Given the description of an element on the screen output the (x, y) to click on. 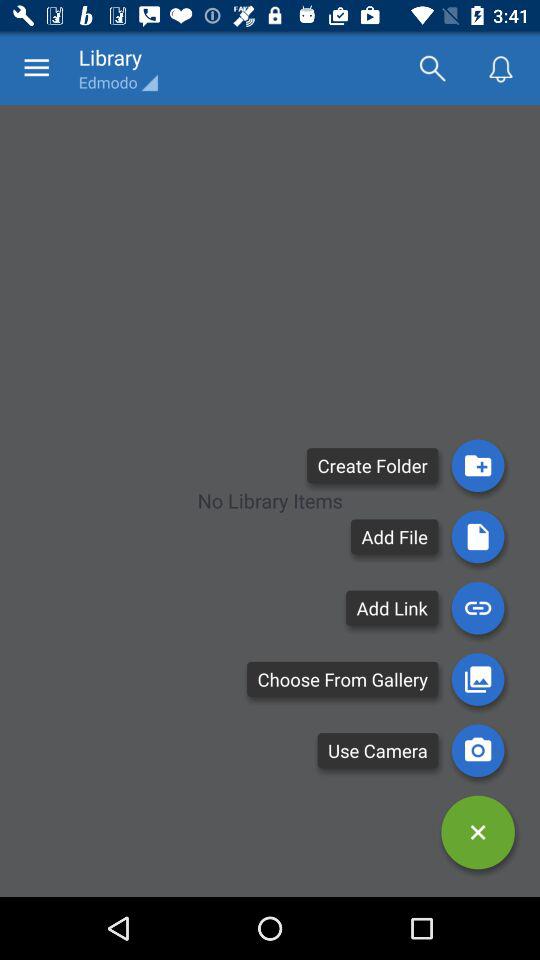
add file (478, 536)
